Given the description of an element on the screen output the (x, y) to click on. 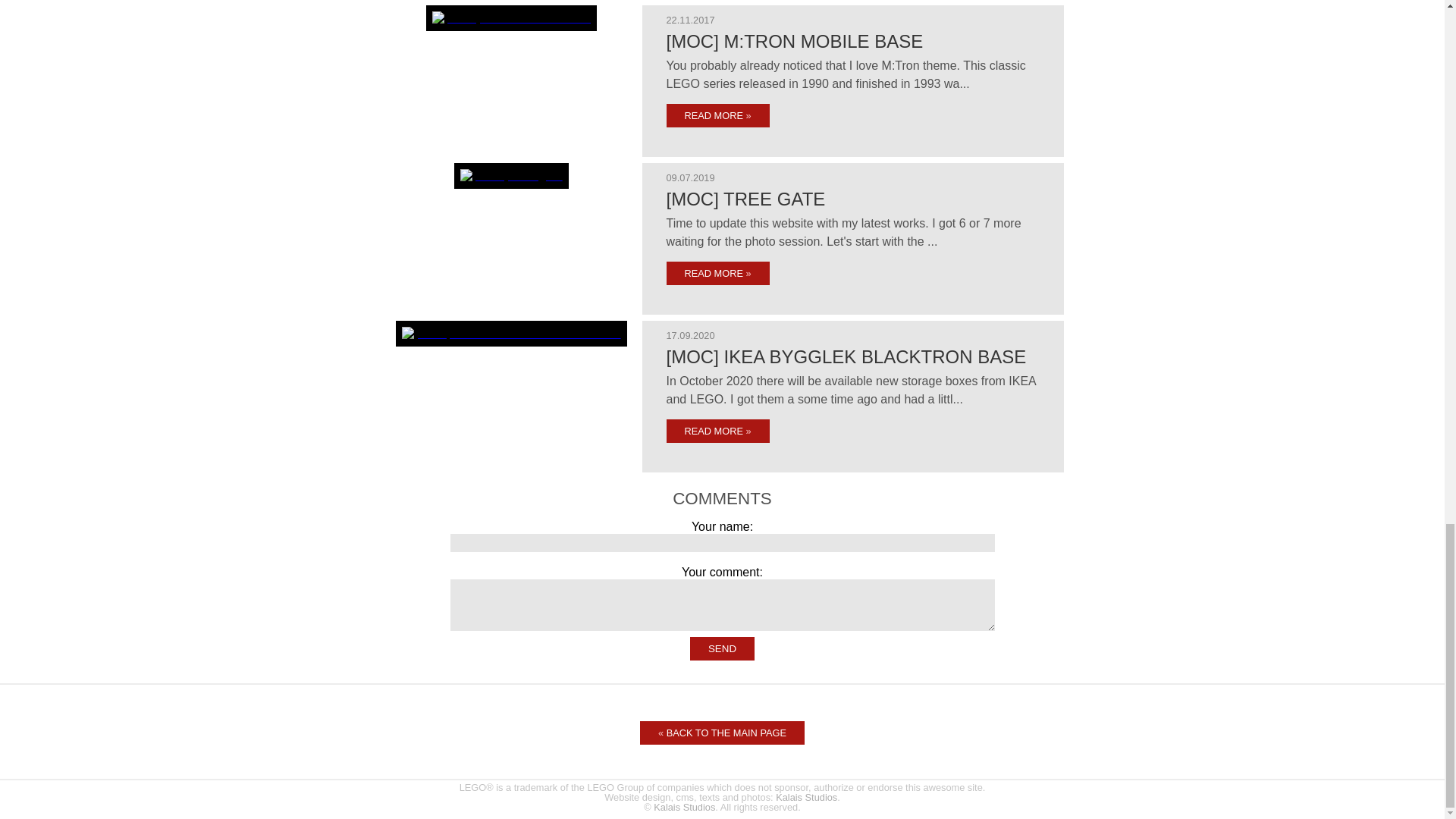
Kalais Studios (683, 807)
Send (722, 648)
Send (722, 648)
Kalais Studios (806, 797)
